Given the description of an element on the screen output the (x, y) to click on. 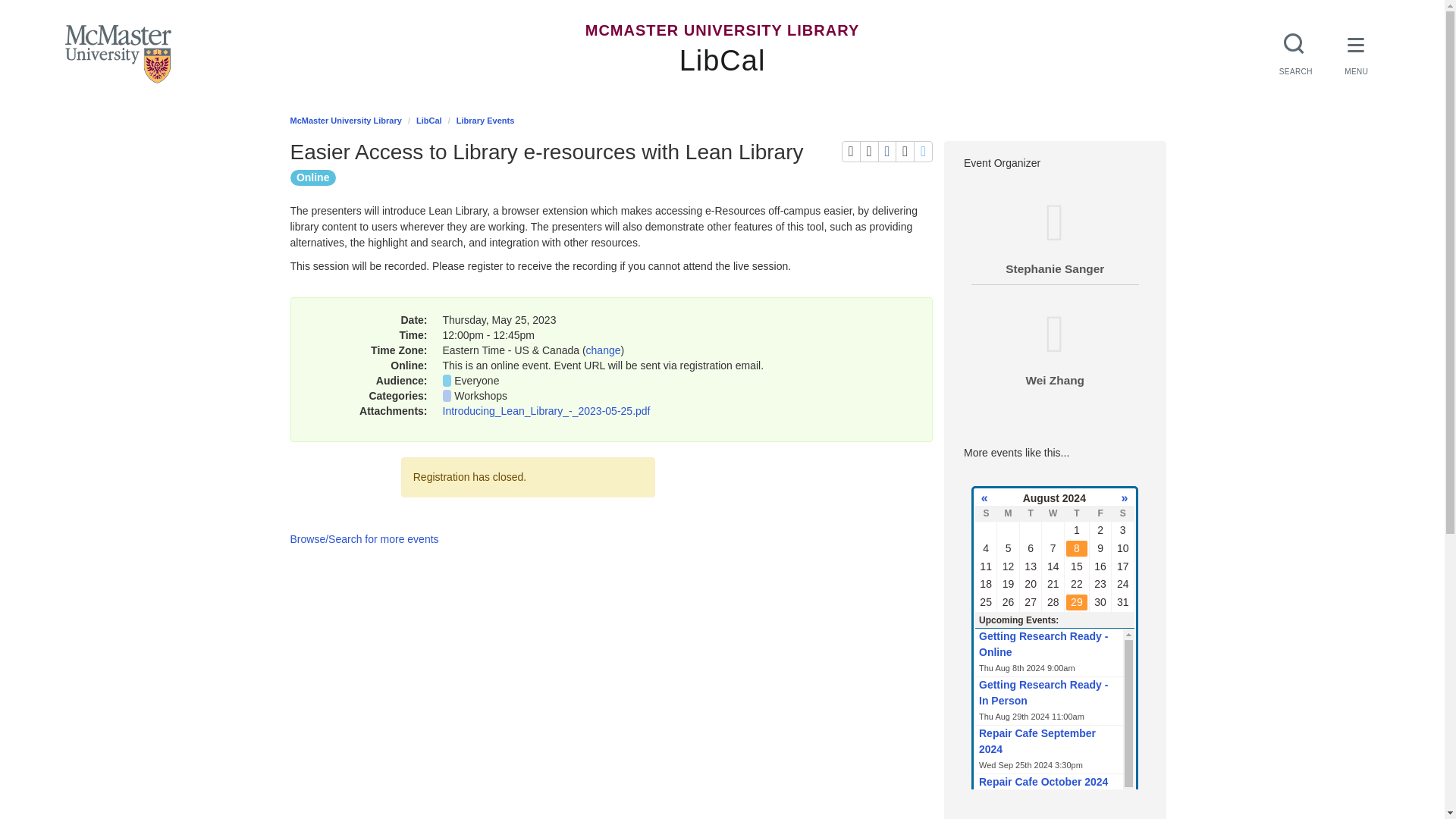
LibCal (722, 60)
MCMASTER UNIVERSITY LIBRARY (722, 30)
inurl:libcal.mcmaster.ca (601, 175)
MCMASTER LOGO (118, 55)
McMaster Univeristy Logo (118, 54)
MENU (1356, 51)
SEARCH (1295, 51)
inurl:mcmaster.ca (829, 175)
